Given the description of an element on the screen output the (x, y) to click on. 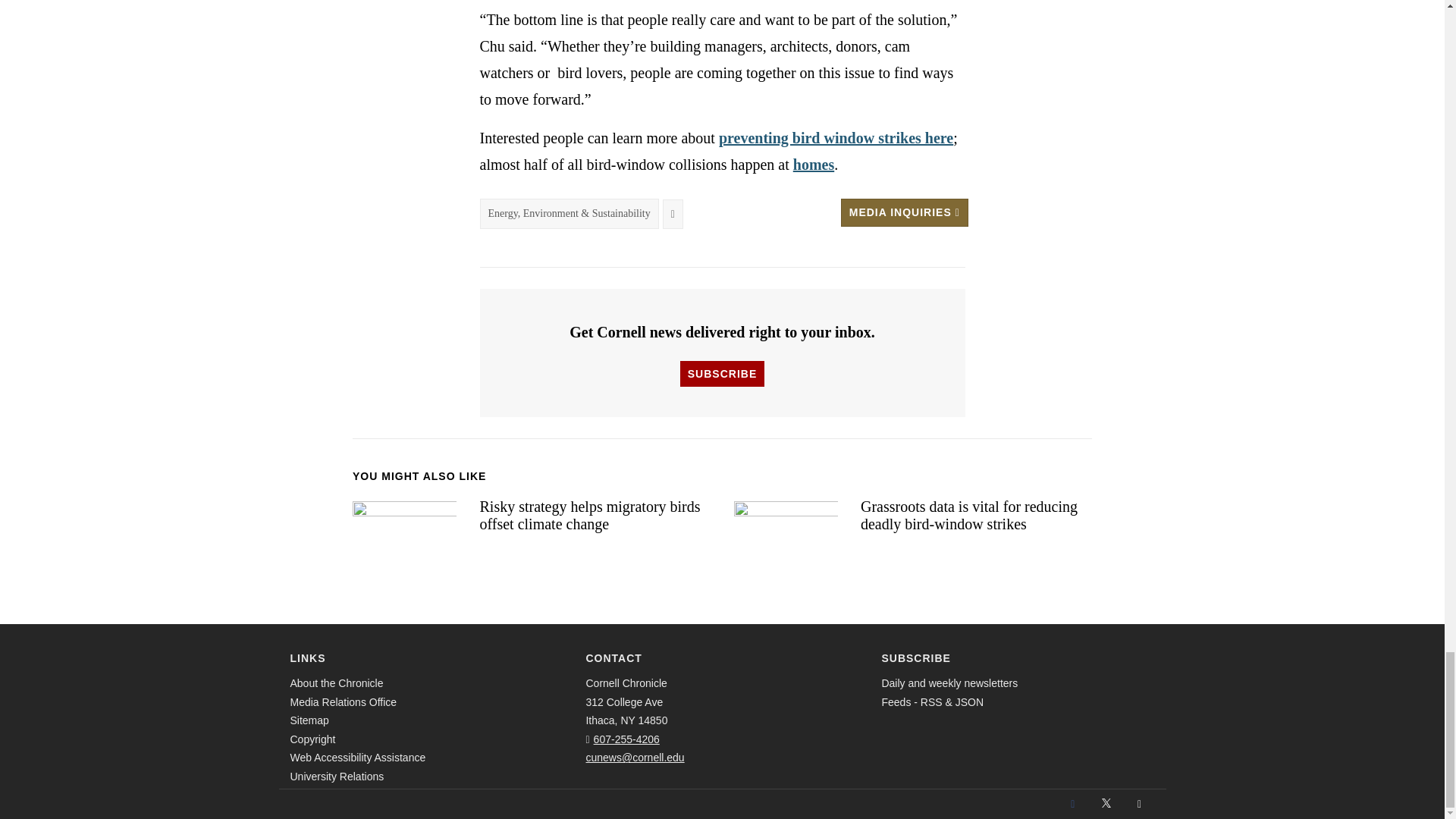
Risky strategy helps migratory birds offset climate change (404, 527)
